Given the description of an element on the screen output the (x, y) to click on. 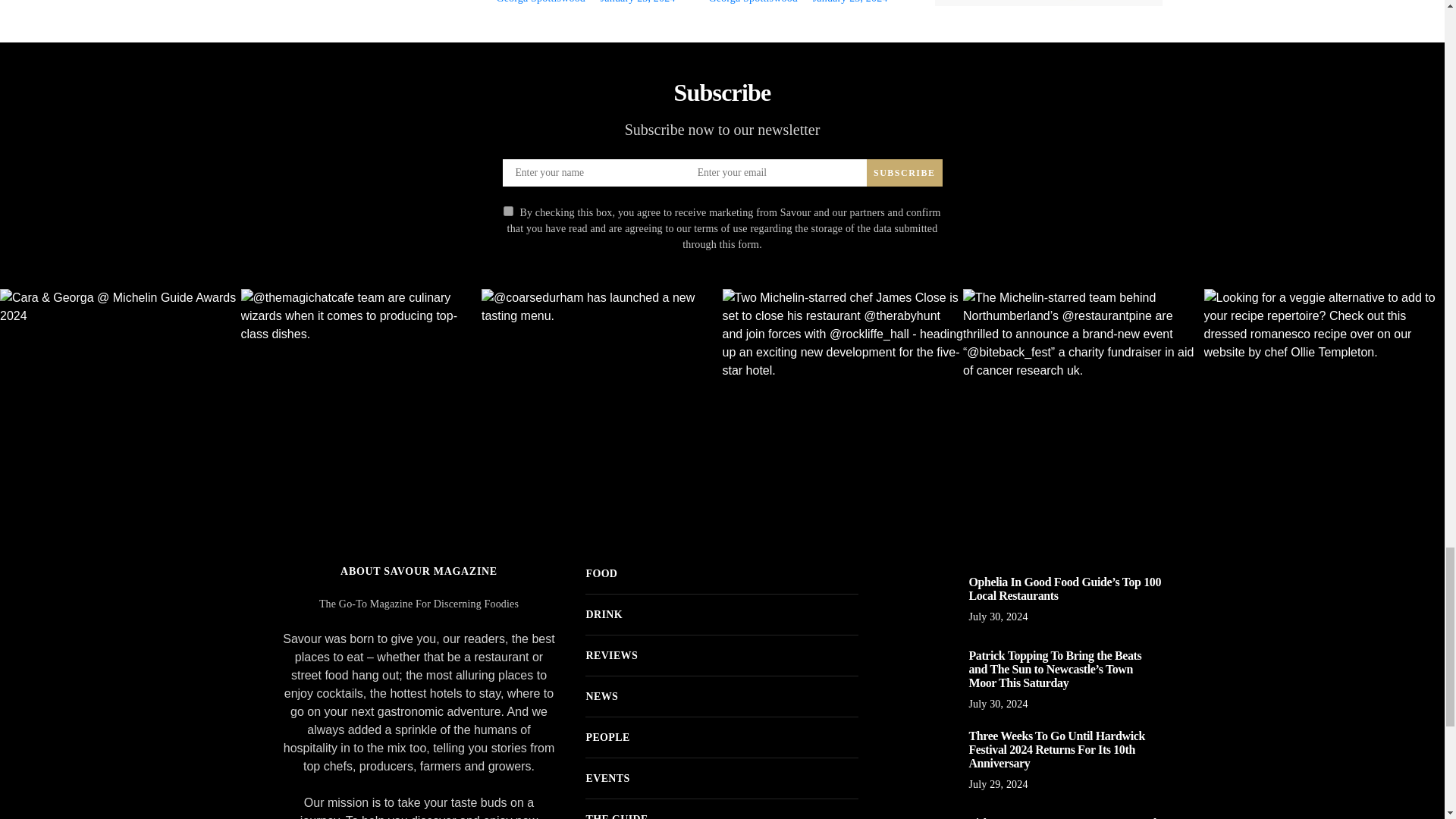
View all posts by Georga Spottiswood (752, 2)
on (508, 211)
View all posts by Georga Spottiswood (540, 2)
